Given the description of an element on the screen output the (x, y) to click on. 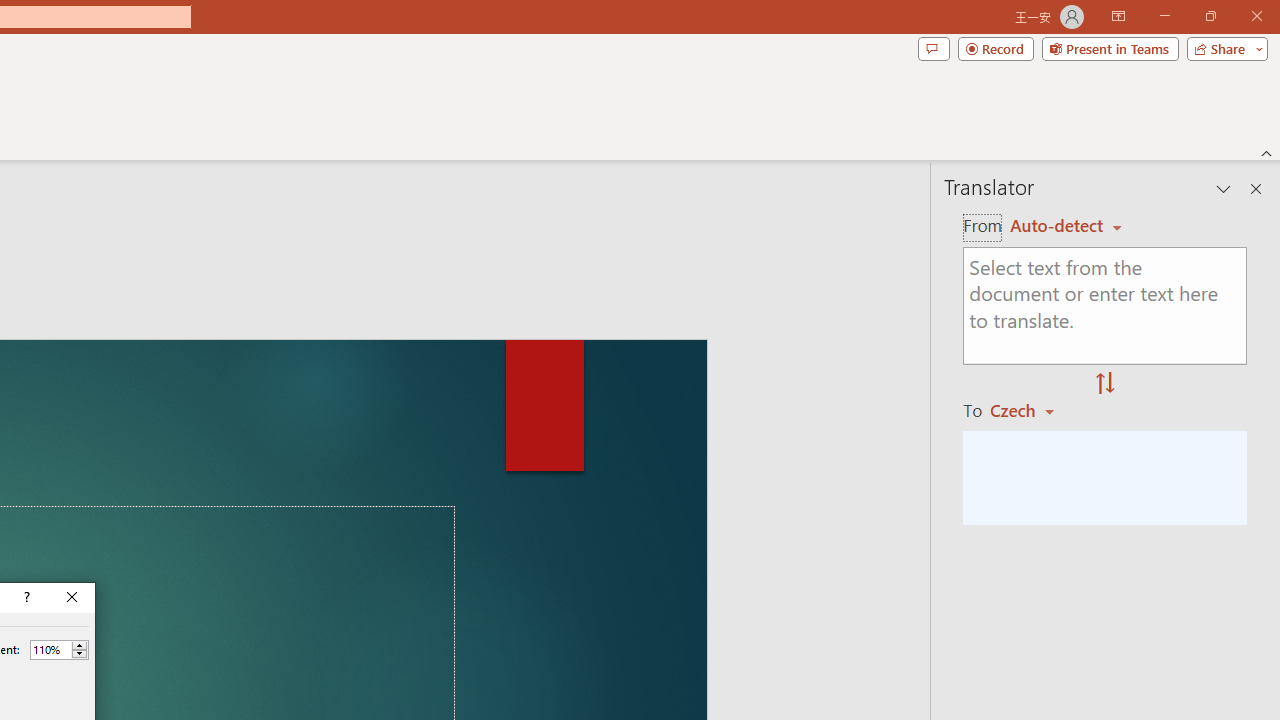
Percent (50, 649)
Context help (25, 597)
Czech (1030, 409)
